Given the description of an element on the screen output the (x, y) to click on. 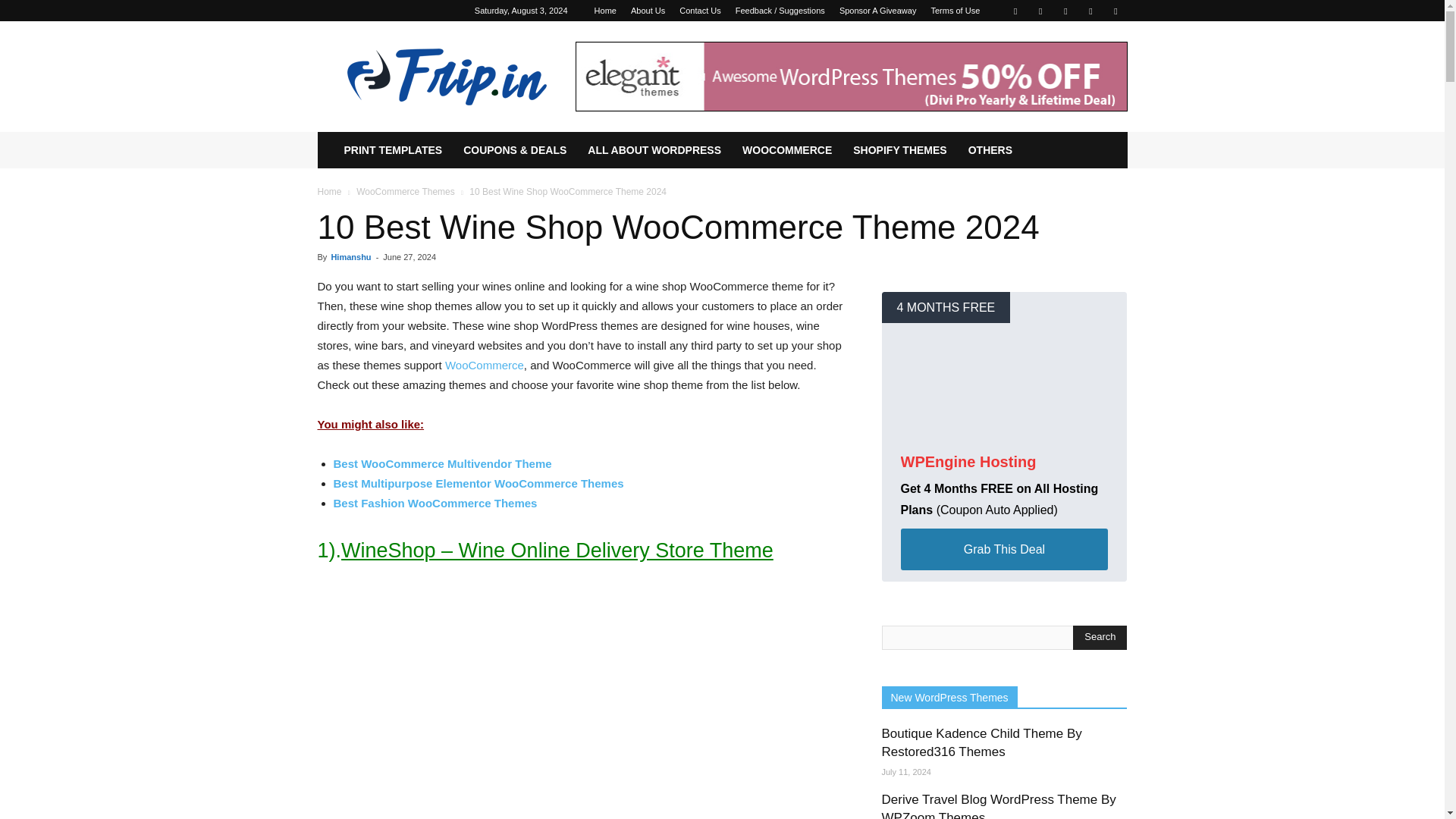
ALL ABOUT WORDPRESS (654, 149)
Facebook (1015, 10)
View all posts in WooCommerce Themes (405, 191)
RSS (1090, 10)
Home (604, 10)
Terms of Use (954, 10)
Twitter (1114, 10)
About Us (647, 10)
Pinterest (1065, 10)
Sponsor A Giveaway (878, 10)
Search (1099, 637)
PRINT TEMPLATES (392, 149)
Contact Us (699, 10)
